Given the description of an element on the screen output the (x, y) to click on. 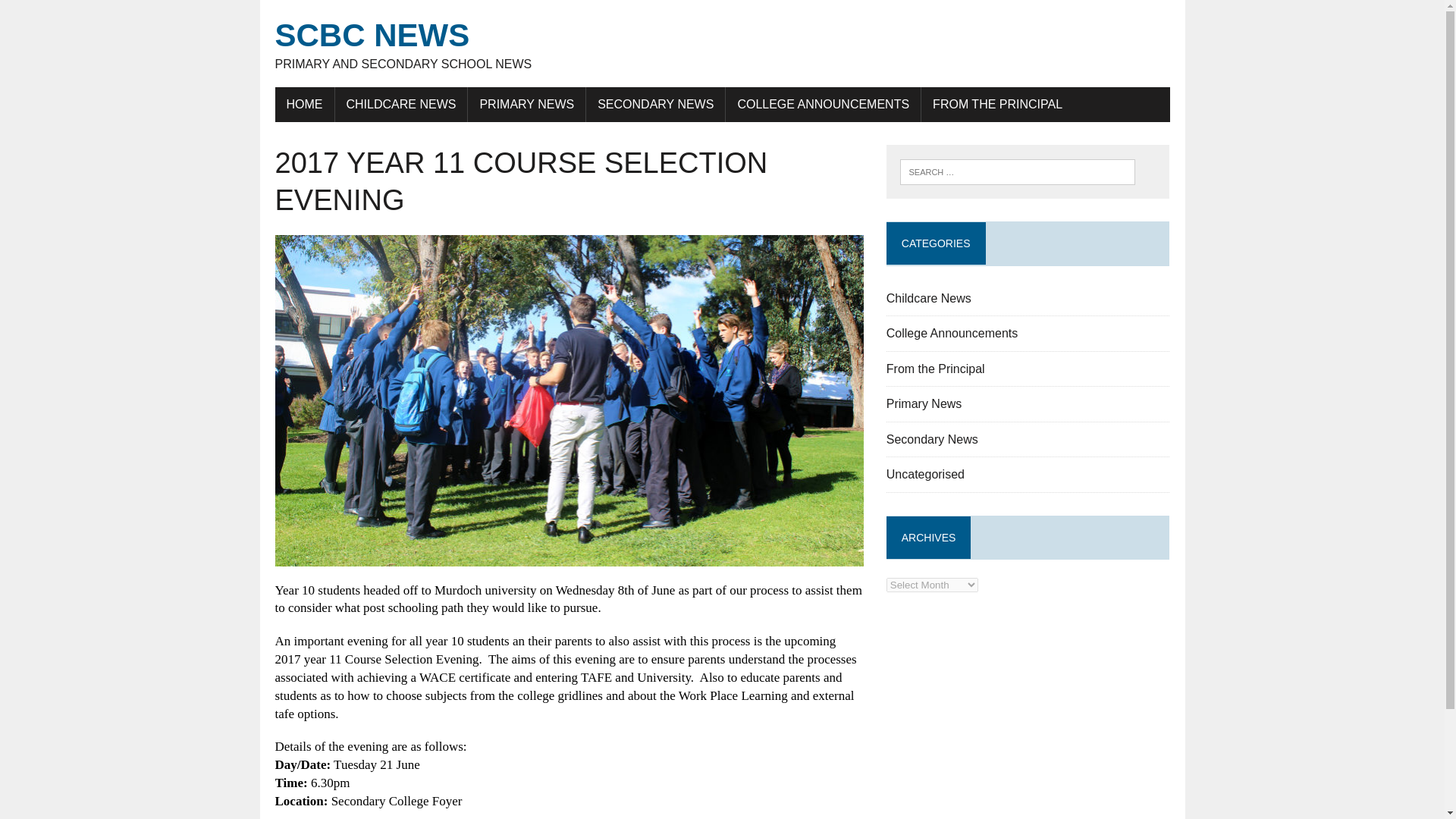
SECONDARY NEWS (655, 104)
COLLEGE ANNOUNCEMENTS (722, 43)
SCBC News (822, 104)
CHILDCARE NEWS (722, 43)
From the Principal (400, 104)
Uncategorised (935, 368)
Childcare News (924, 473)
FROM THE PRINCIPAL (928, 297)
PRIMARY NEWS (997, 104)
Primary News (526, 104)
HOME (924, 403)
College Announcements (304, 104)
Search (951, 332)
Secondary News (75, 14)
